Given the description of an element on the screen output the (x, y) to click on. 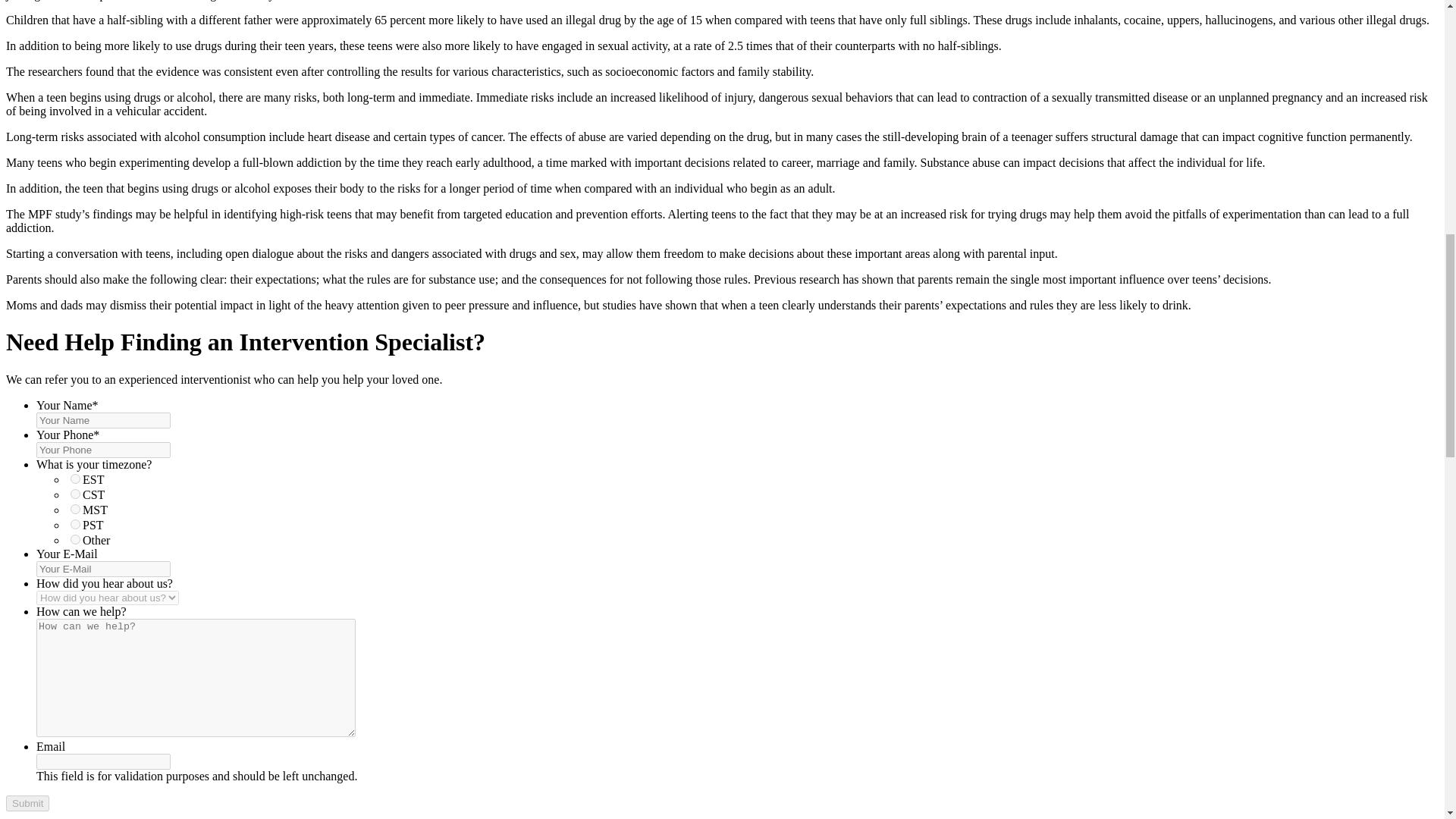
Submit (27, 803)
PST (74, 524)
MST (74, 509)
CST (74, 493)
Submit (27, 803)
EST (74, 479)
Other (74, 539)
